Given the description of an element on the screen output the (x, y) to click on. 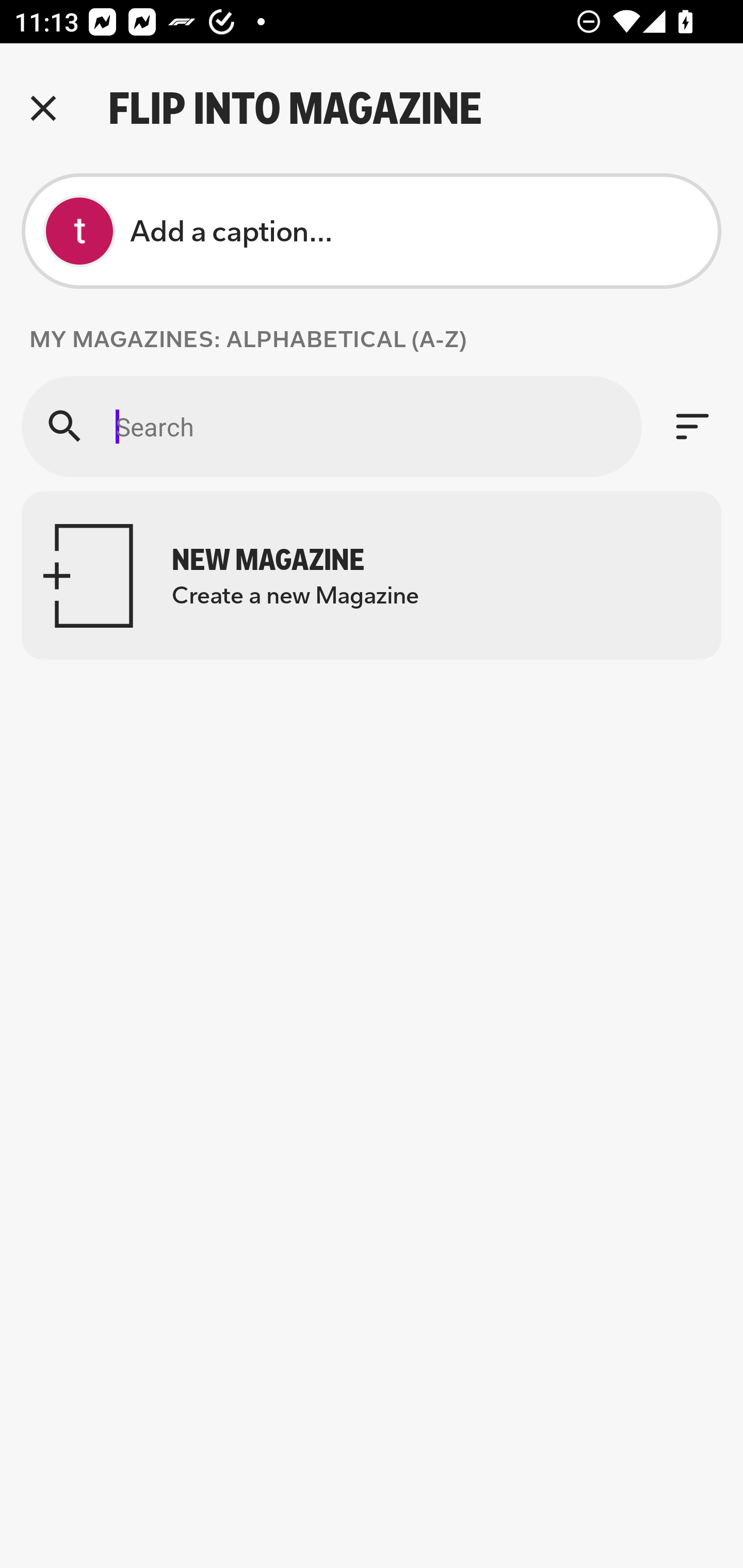
test appium Add a caption… (371, 231)
Search (331, 426)
NEW MAGAZINE Create a new Magazine (371, 575)
